Given the description of an element on the screen output the (x, y) to click on. 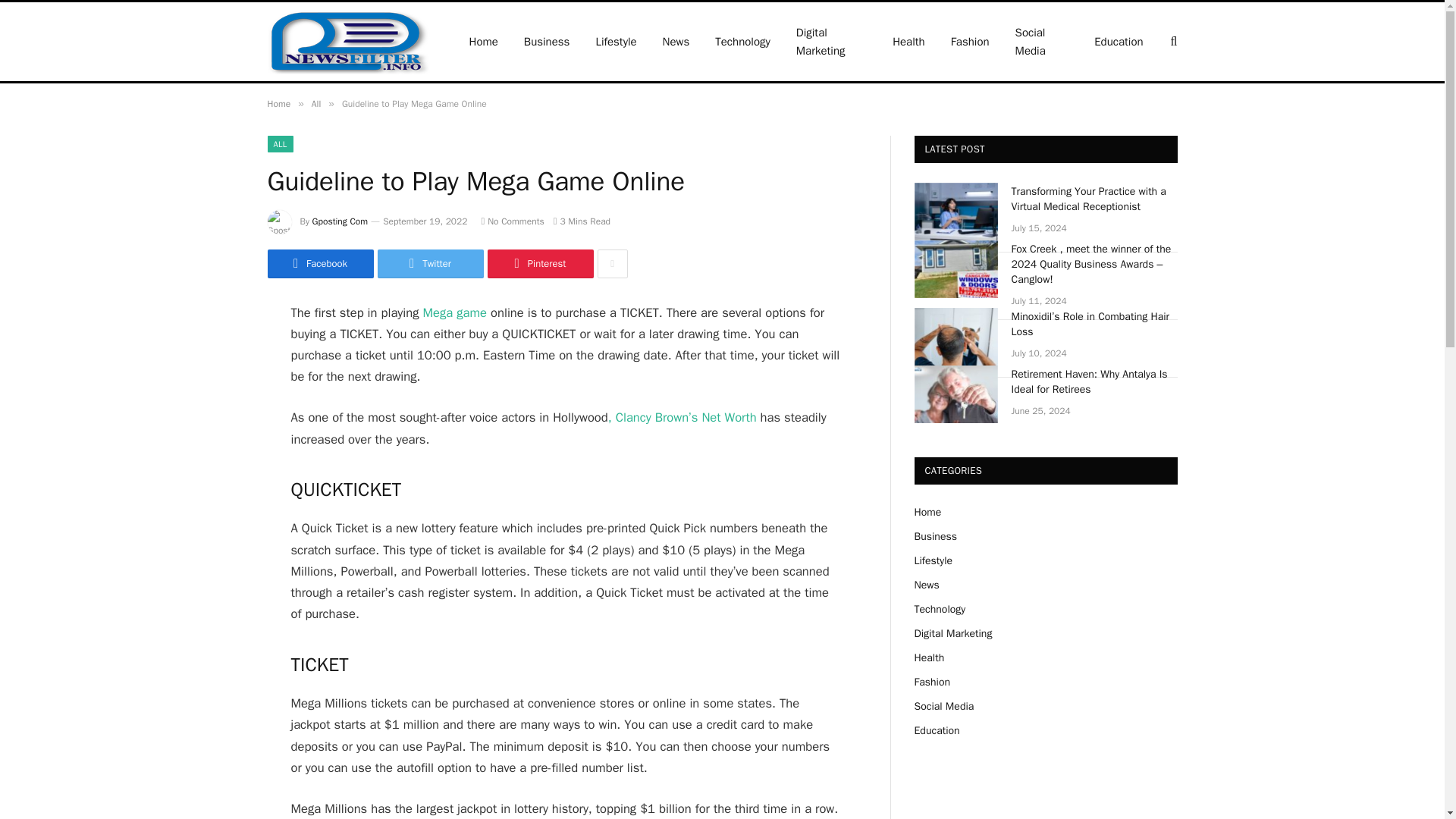
Facebook (319, 263)
Posts by Gposting Com (340, 221)
Education (1118, 41)
Business (547, 41)
No Comments (511, 221)
ALL (279, 143)
Technology (742, 41)
Gposting Com (340, 221)
Share on Pinterest (539, 263)
Mega game (455, 312)
Show More Social Sharing (611, 263)
Share on Facebook (319, 263)
Newsfilter.info (347, 41)
Social Media (1042, 41)
Twitter (430, 263)
